Given the description of an element on the screen output the (x, y) to click on. 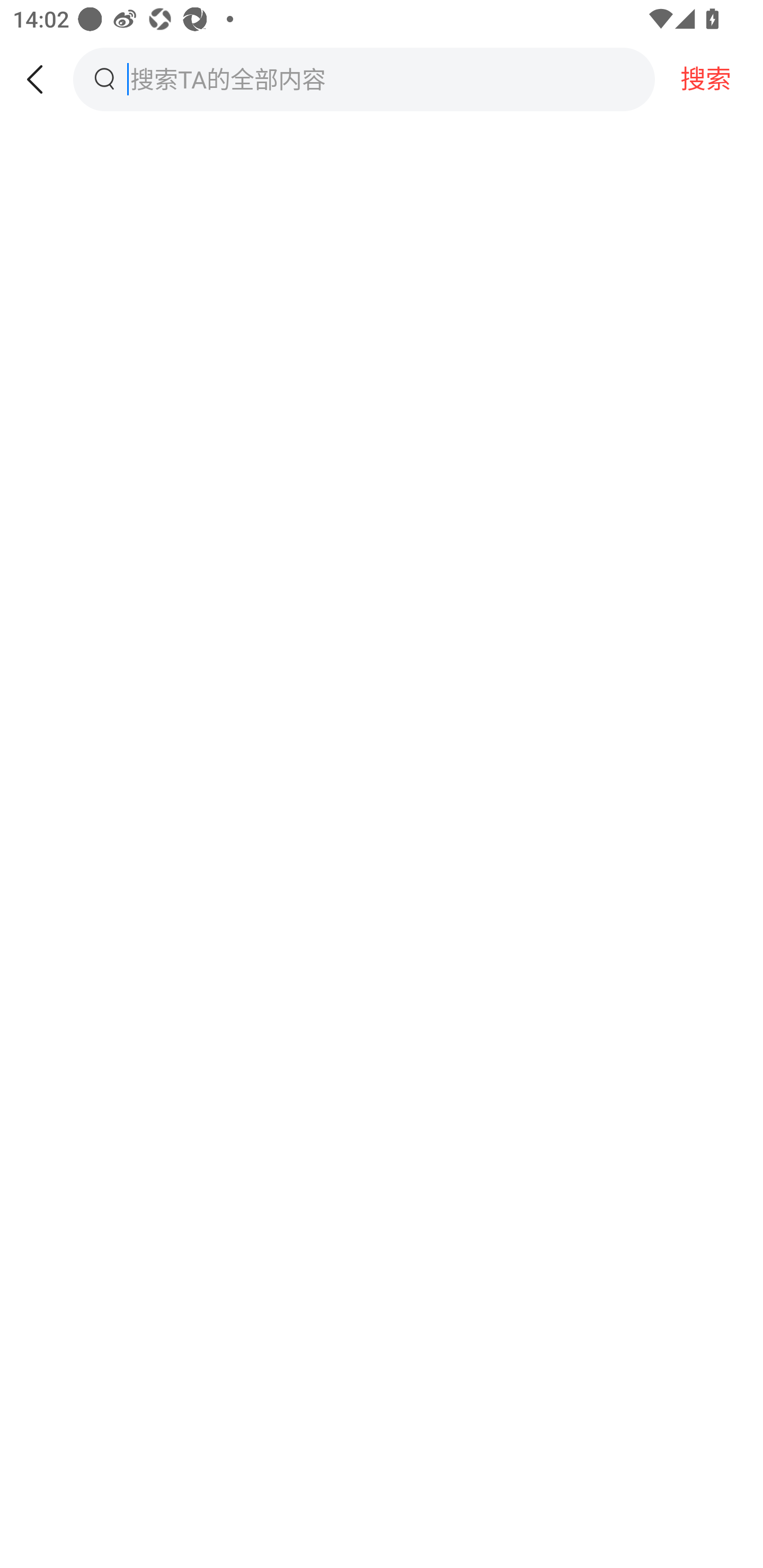
返回 (36, 78)
搜索 (708, 78)
 搜索TA的全部内容 (355, 78)
